Given the description of an element on the screen output the (x, y) to click on. 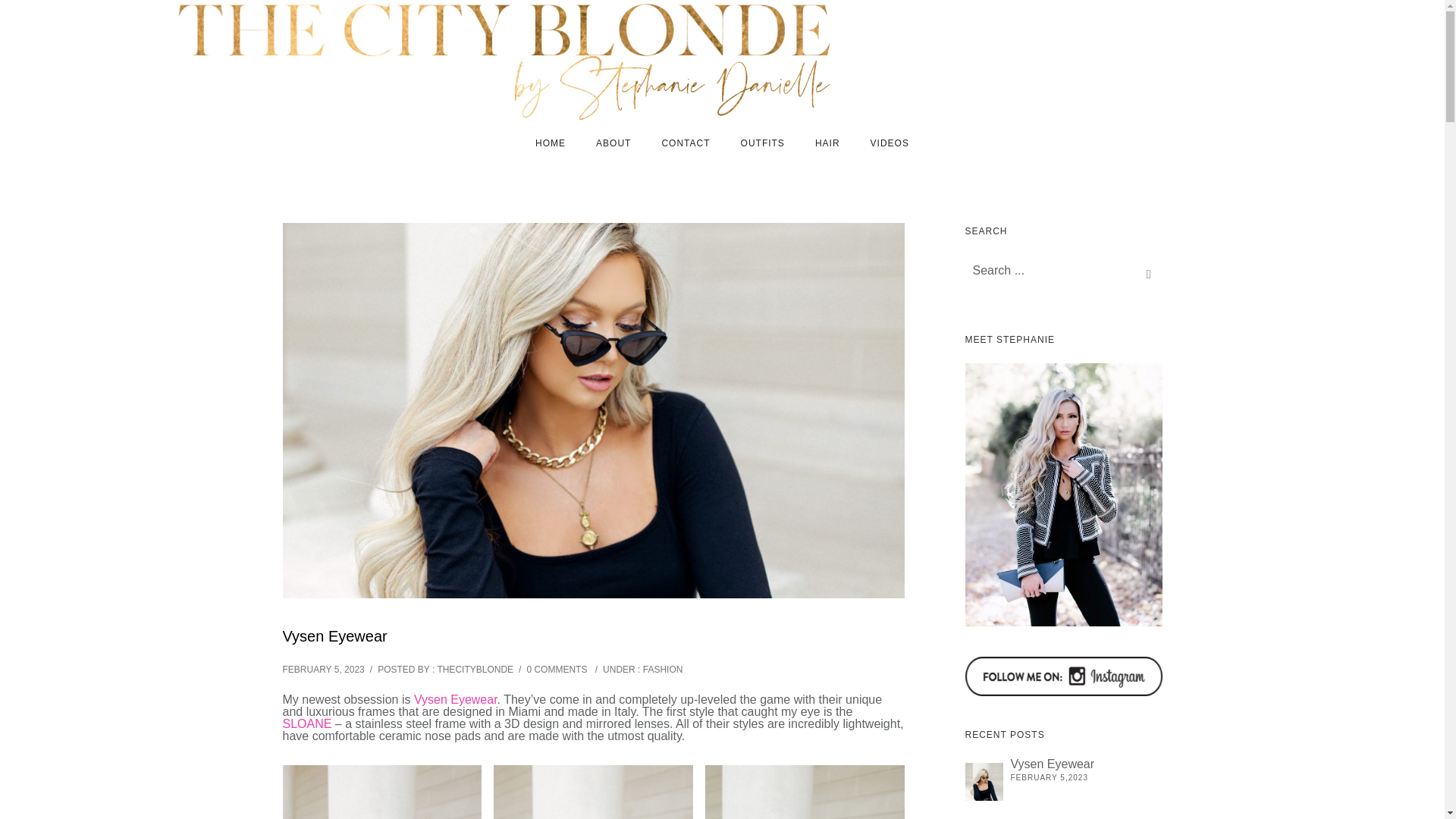
View all posts in Fashion (662, 669)
Hair (827, 143)
FASHION (662, 669)
Contact (685, 143)
Videos (890, 143)
CONTACT (685, 143)
VIDEOS (890, 143)
Vysen Eyewear (983, 781)
HOME (549, 143)
HAIR (827, 143)
Vysen Eyewear (334, 635)
ABOUT (613, 143)
Meet Stephanie (1062, 494)
Home (549, 143)
SLOANE (306, 723)
